Given the description of an element on the screen output the (x, y) to click on. 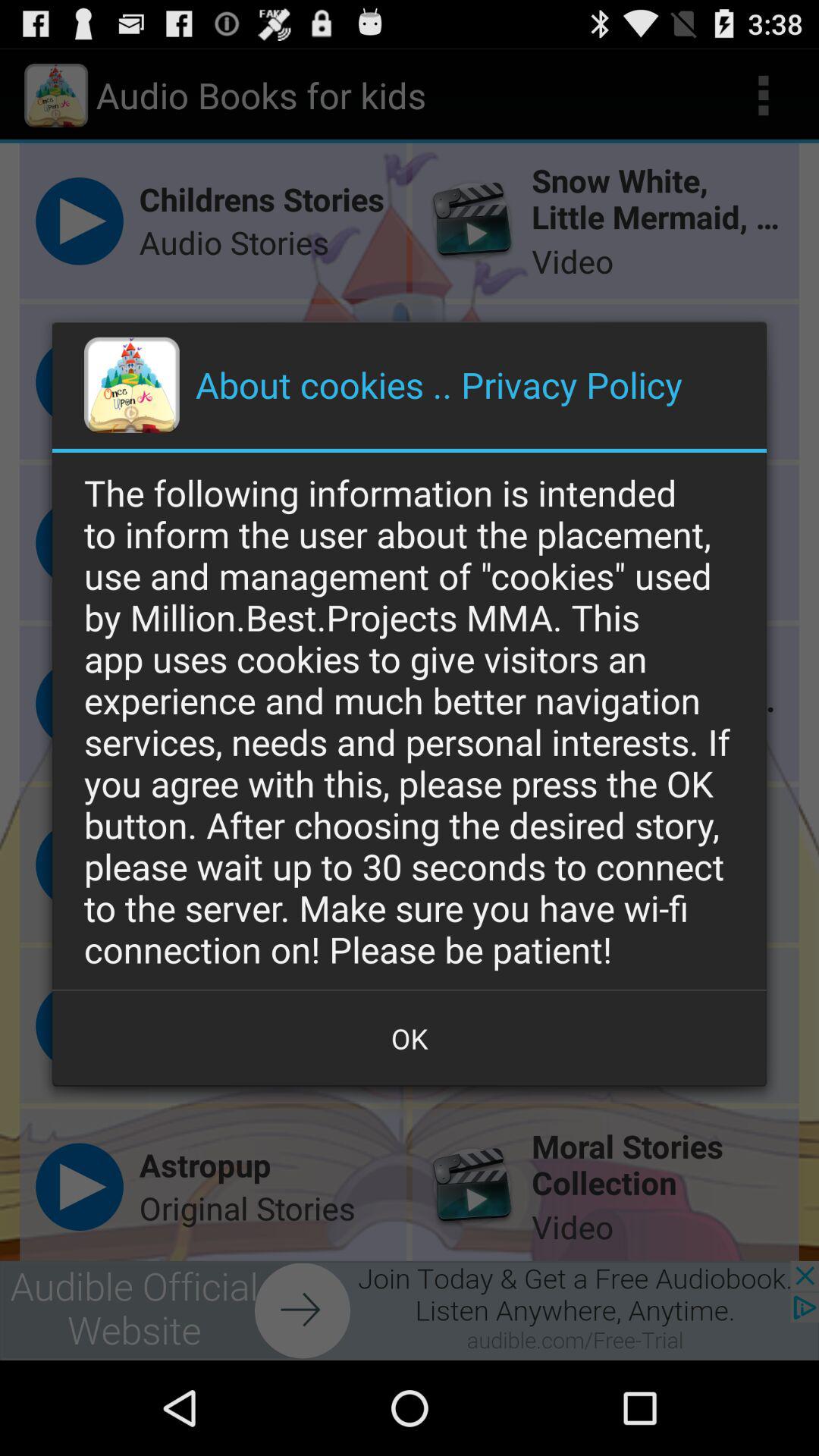
scroll until ok icon (409, 1038)
